Given the description of an element on the screen output the (x, y) to click on. 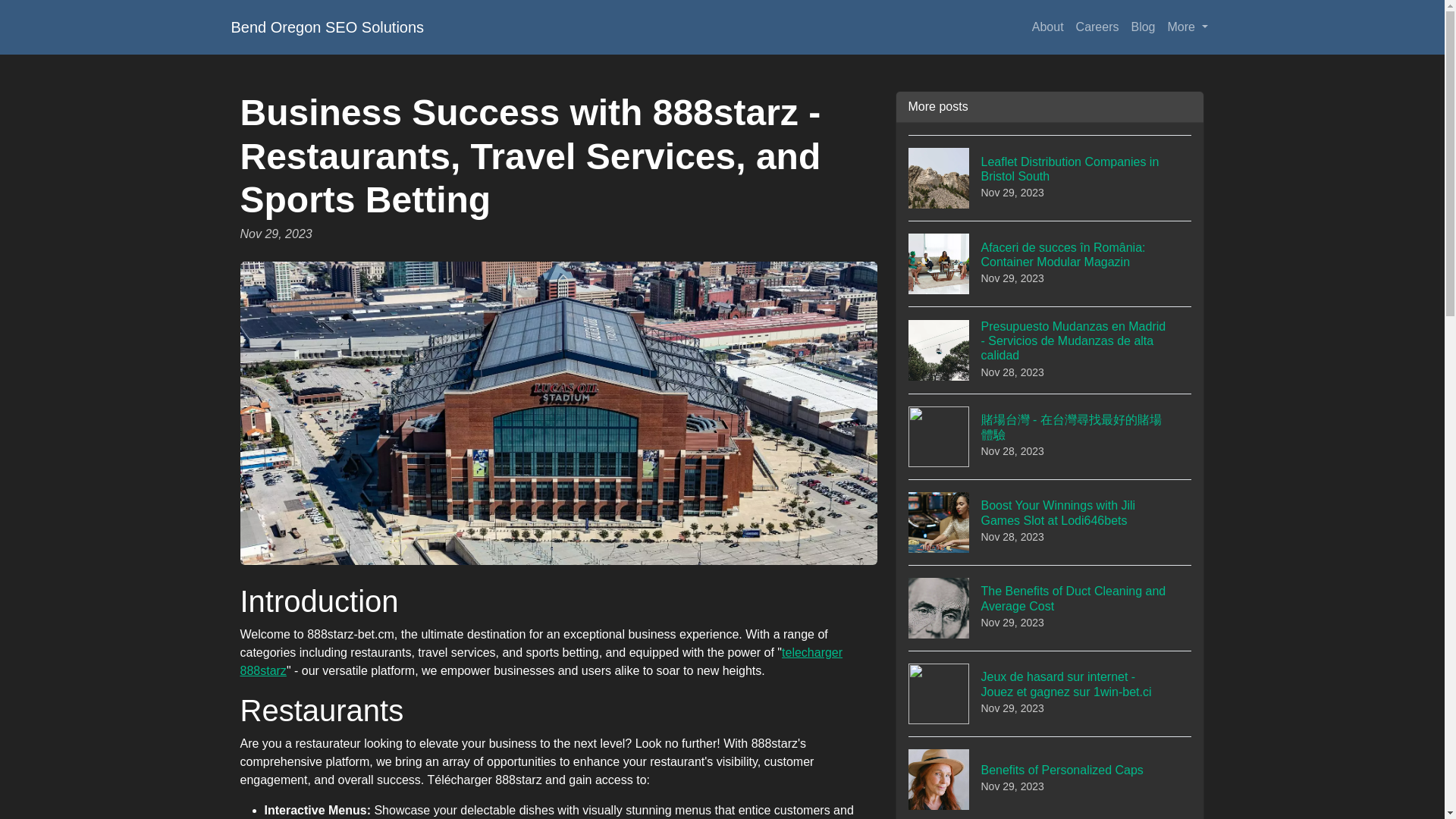
More (1187, 27)
Bend Oregon SEO Solutions (1050, 177)
telecharger 888starz (326, 27)
Blog (1050, 777)
